Given the description of an element on the screen output the (x, y) to click on. 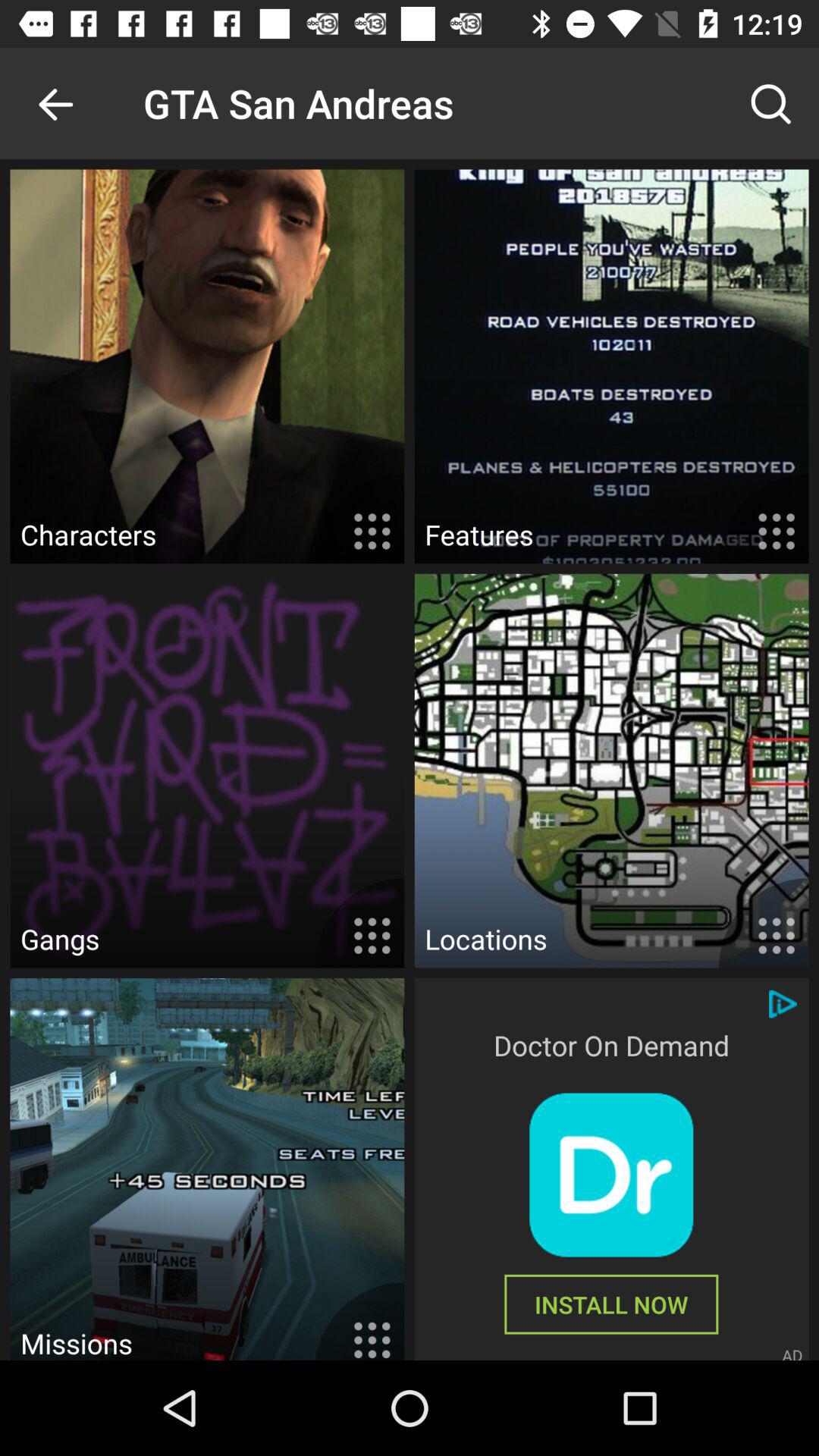
open the item next to the gta san andreas (771, 103)
